Given the description of an element on the screen output the (x, y) to click on. 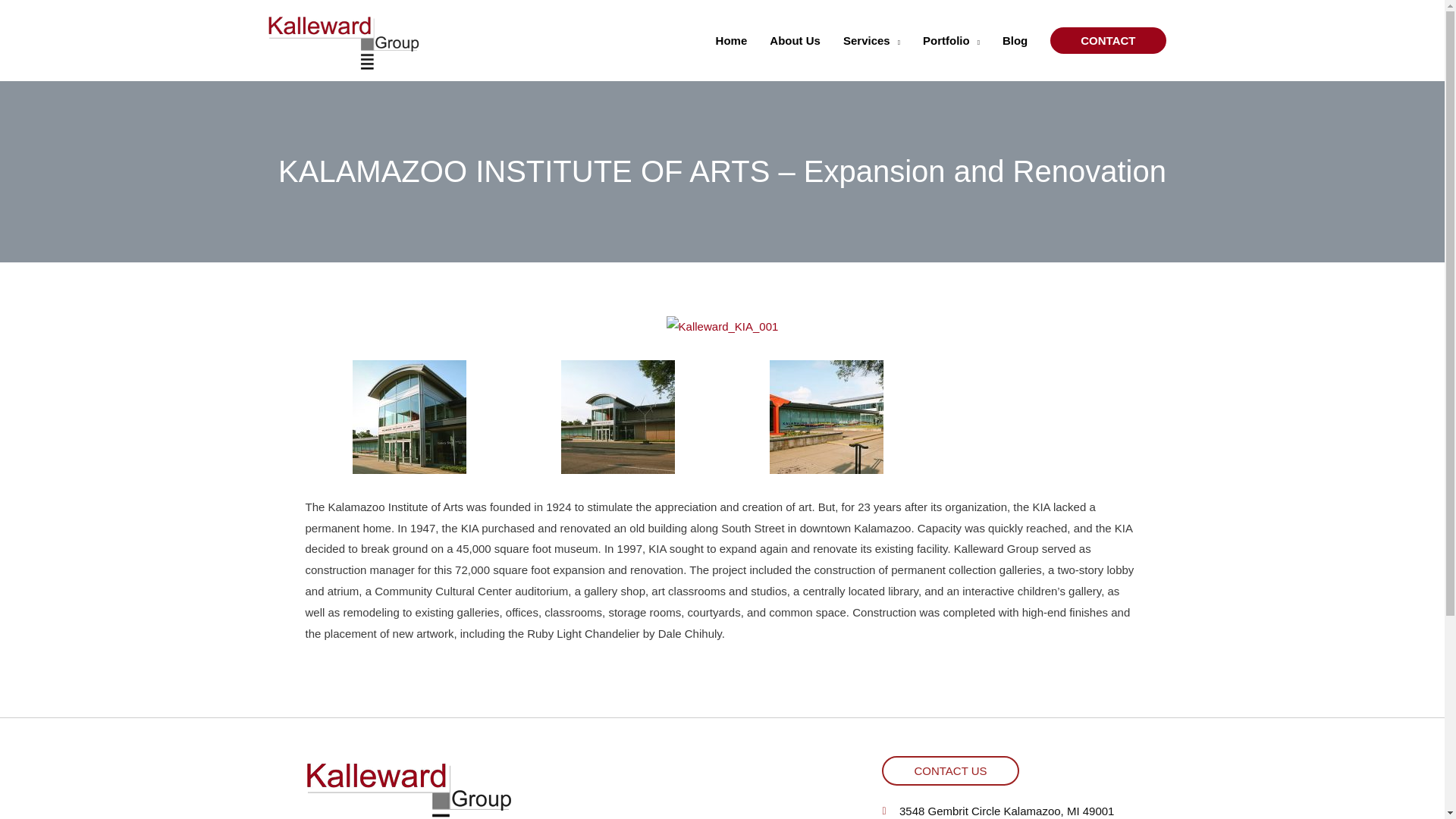
Portfolio (951, 40)
CONTACT (1107, 40)
Services (871, 40)
About Us (794, 40)
